Given the description of an element on the screen output the (x, y) to click on. 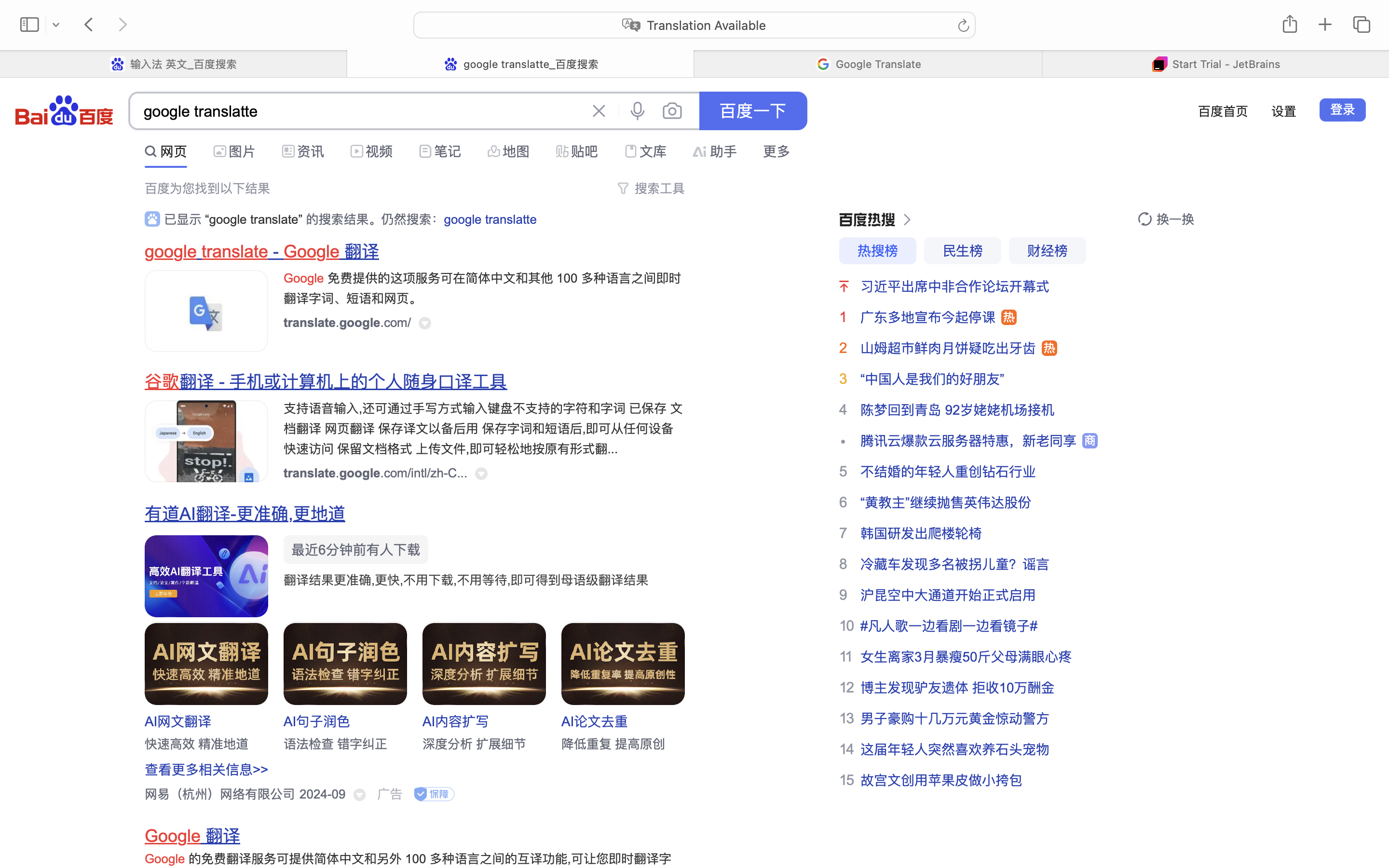
 Element type: AXStaticText (622, 148)
支持语音输入,还可通过手写方式输入键盘不支持的字符和字词 已保存 文档翻译 网页翻译 保存译文以备后用 保存字词和短语后,即可从任何设备快速访问 保留文档格式 上传文件,即可轻松地按原有形式翻... Element type: AXStaticText (482, 428)
6 Element type: AXStaticText (842, 501)
翻译 Element type: AXStaticText (359, 251)
文库 Element type: AXStaticText (652, 151)
